Given the description of an element on the screen output the (x, y) to click on. 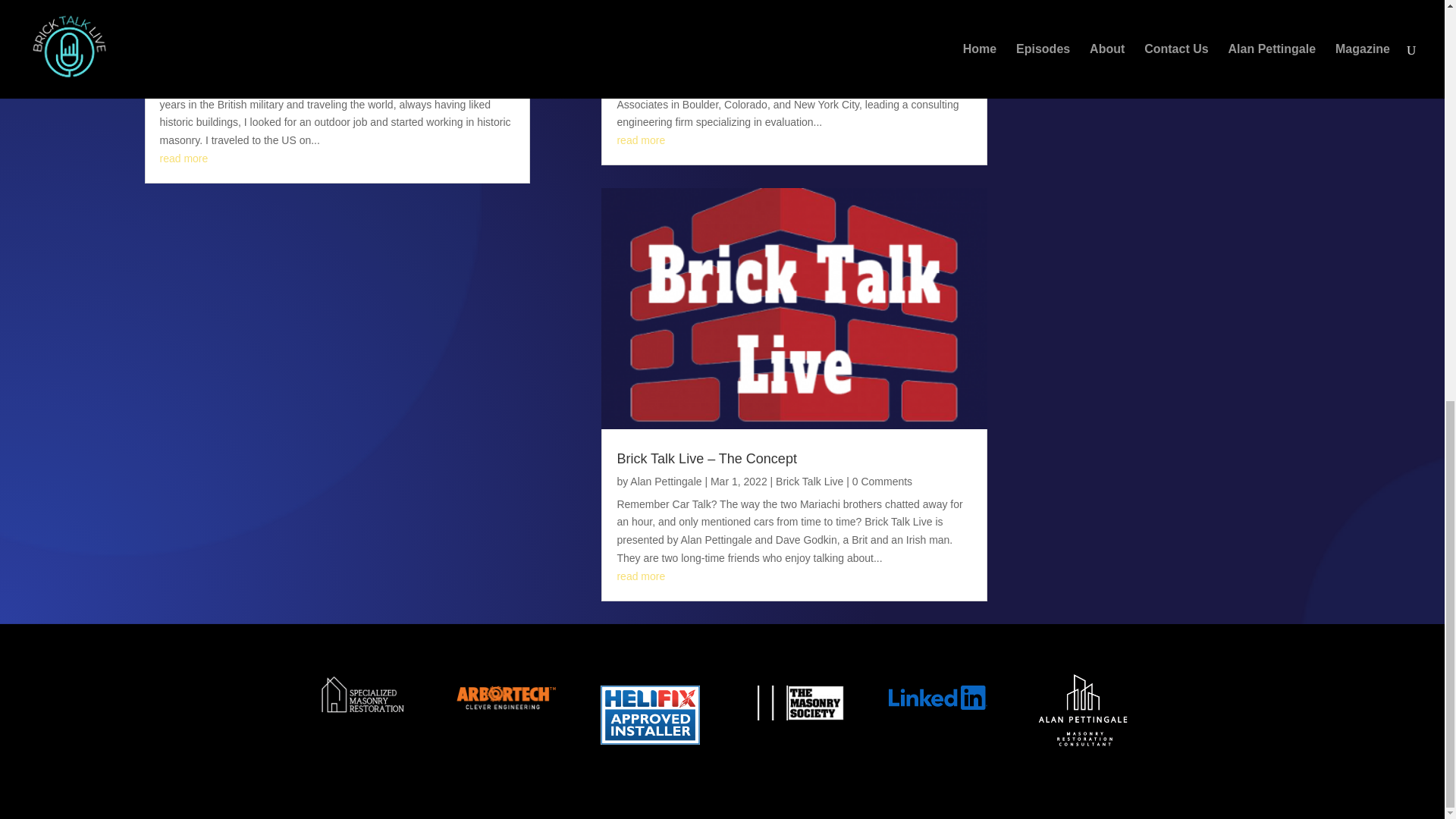
Brick Talk Live (809, 481)
Posts by Alan Pettingale (665, 481)
Alan Pettingale (208, 45)
Alan Pettingale (665, 481)
Michael Schuller (665, 22)
Gillian Lancaster (670, 45)
read more (640, 140)
Uncategorized (432, 45)
Brick Talk Live (359, 45)
Guests (881, 45)
Brick Talk Live (825, 45)
Alan Pettingale (204, 22)
Posts by Alan Pettingale (208, 45)
AP-logo-inverse (1081, 708)
